Given the description of an element on the screen output the (x, y) to click on. 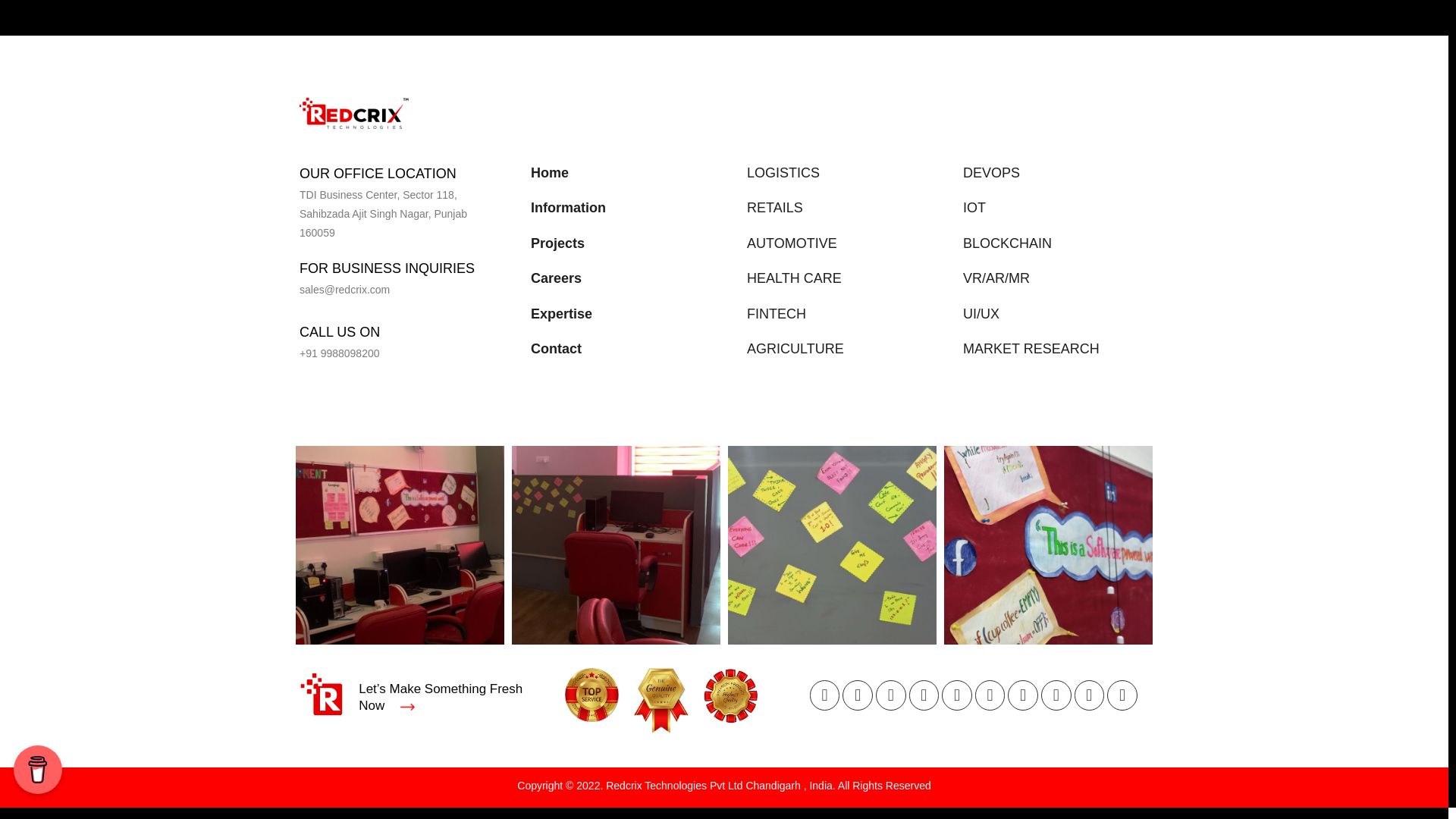
Group 38 (356, 112)
